Given the description of an element on the screen output the (x, y) to click on. 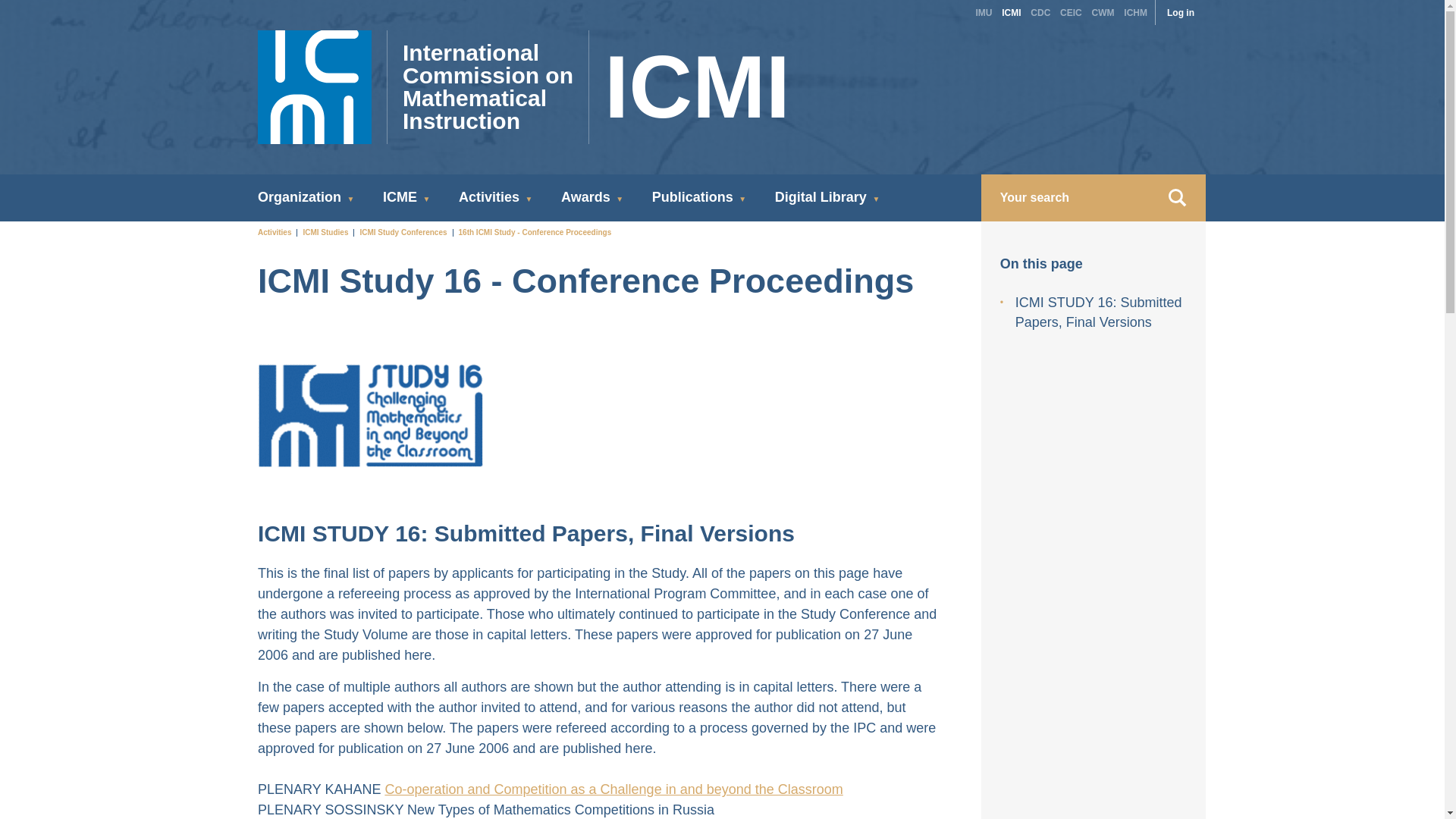
CEIC (1071, 10)
CWM (1102, 10)
IMU (983, 10)
ICMI (1011, 10)
Skip to main content (604, 87)
ICHM (1180, 10)
CDC (1135, 10)
